Given the description of an element on the screen output the (x, y) to click on. 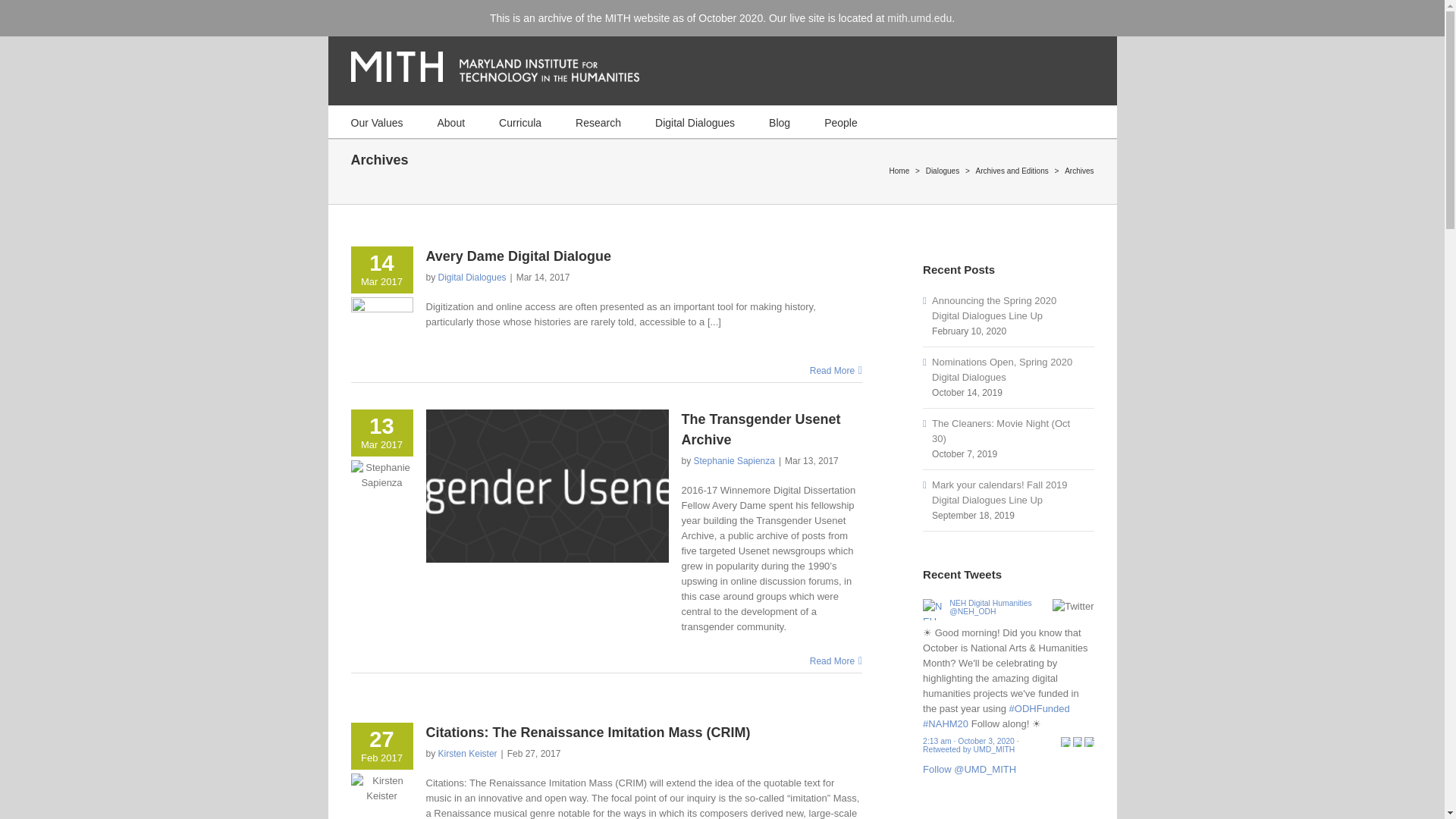
Research (598, 121)
About (450, 121)
Flickr (1091, 14)
Posts by Stephanie Sapienza (734, 460)
Twitter (1051, 14)
Rss (1012, 14)
NEH Digital Humanities (933, 605)
Blog (779, 121)
Posts by Kirsten Keister (467, 753)
Vimeo (1072, 14)
Digital Dialogues (695, 121)
Curricula (520, 121)
Facebook (1032, 14)
Our Values (376, 121)
Posts by Digital Dialogues (472, 276)
